Given the description of an element on the screen output the (x, y) to click on. 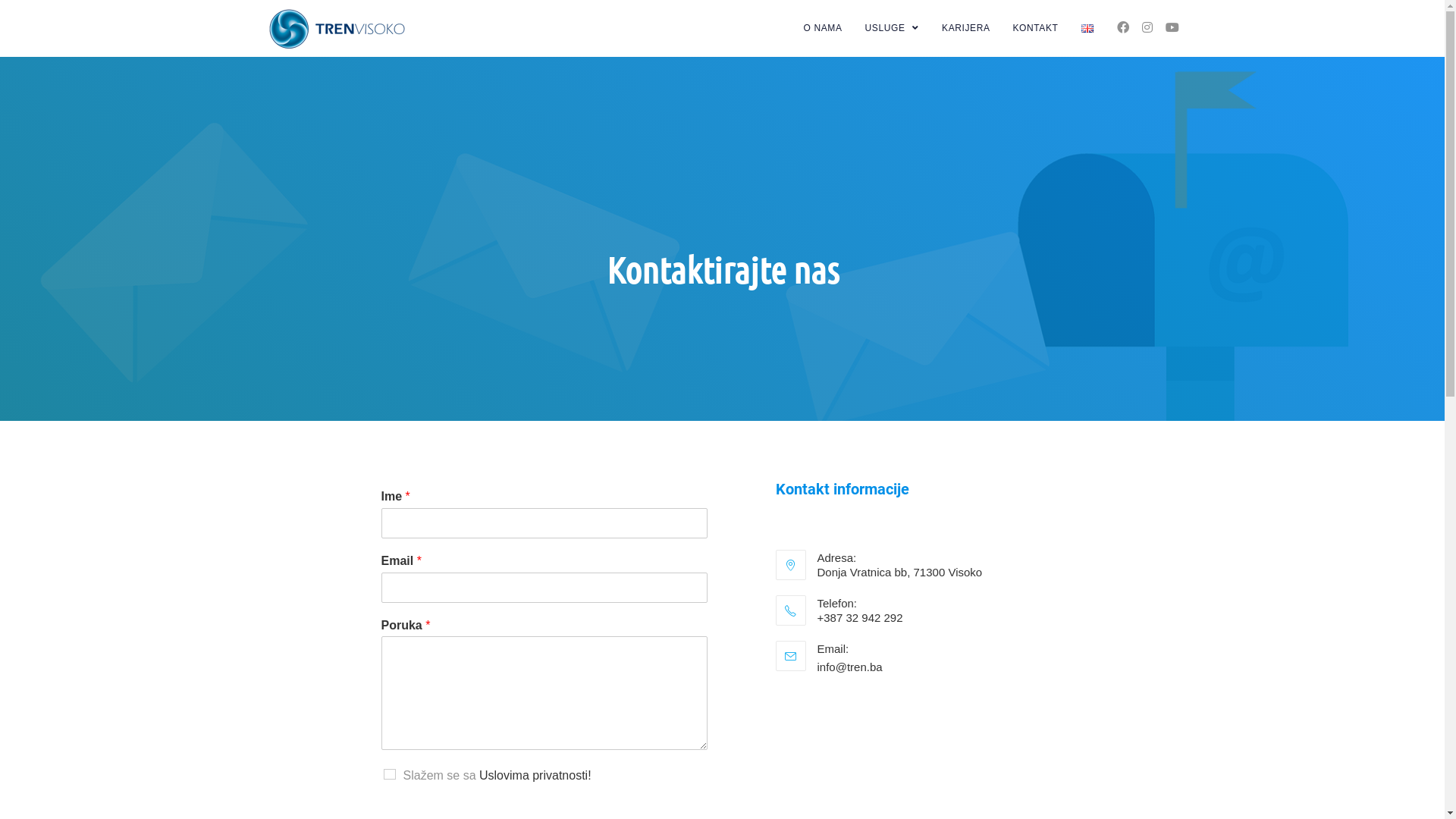
Adresa:
Donja Vratnica bb, 71300 Visoko Element type: text (919, 564)
Uslovima privatnosti! Element type: text (535, 774)
Email: Element type: text (940, 656)
KONTAKT Element type: text (1035, 28)
O NAMA Element type: text (822, 28)
info@tren.ba Element type: text (849, 666)
Kontakt informacije Element type: text (841, 489)
KARIJERA Element type: text (965, 28)
Telefon:
+387 32 942 292 Element type: text (919, 609)
English Element type: hover (1087, 28)
USLUGE Element type: text (892, 28)
